Given the description of an element on the screen output the (x, y) to click on. 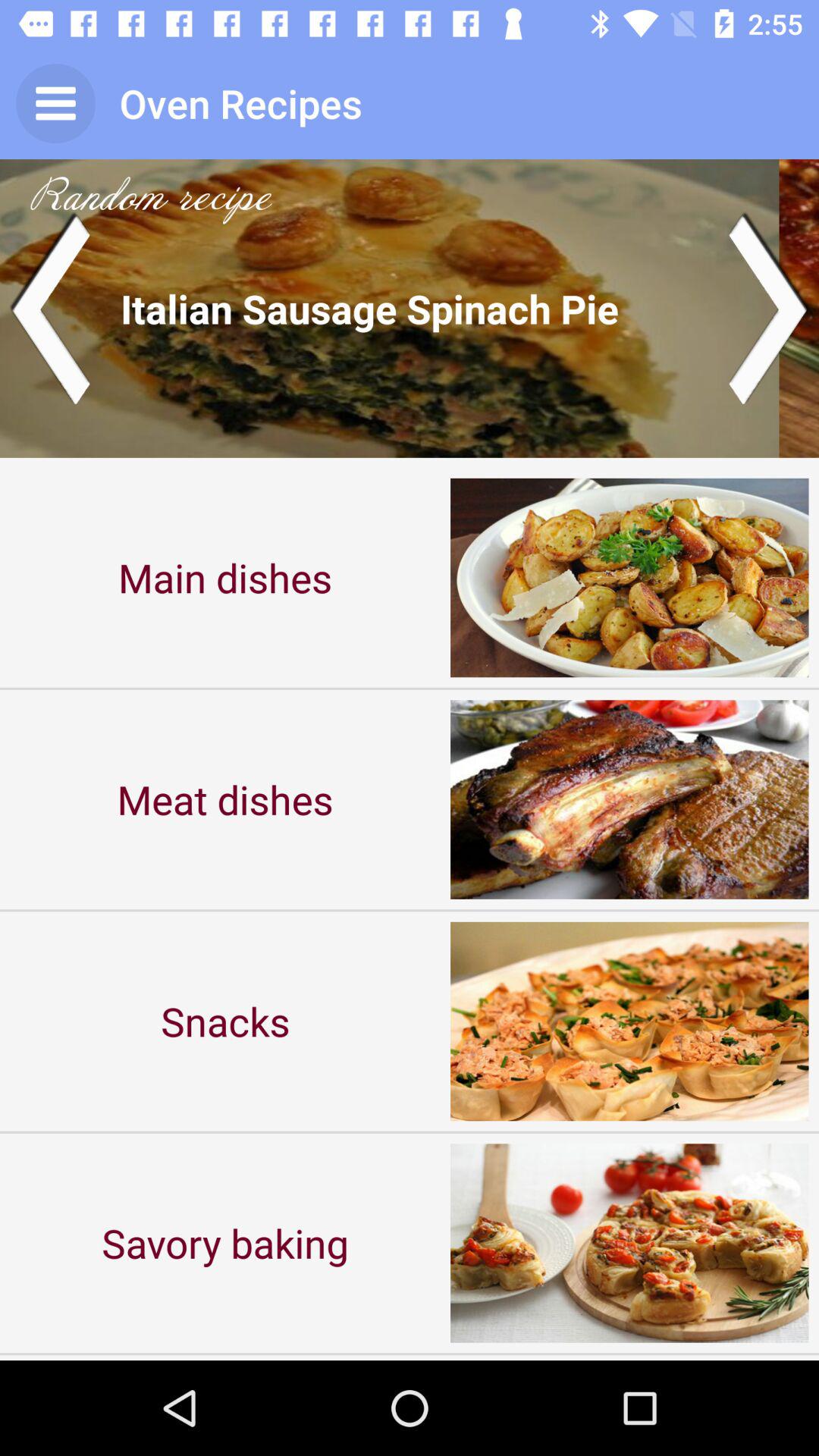
view next image (769, 308)
